Given the description of an element on the screen output the (x, y) to click on. 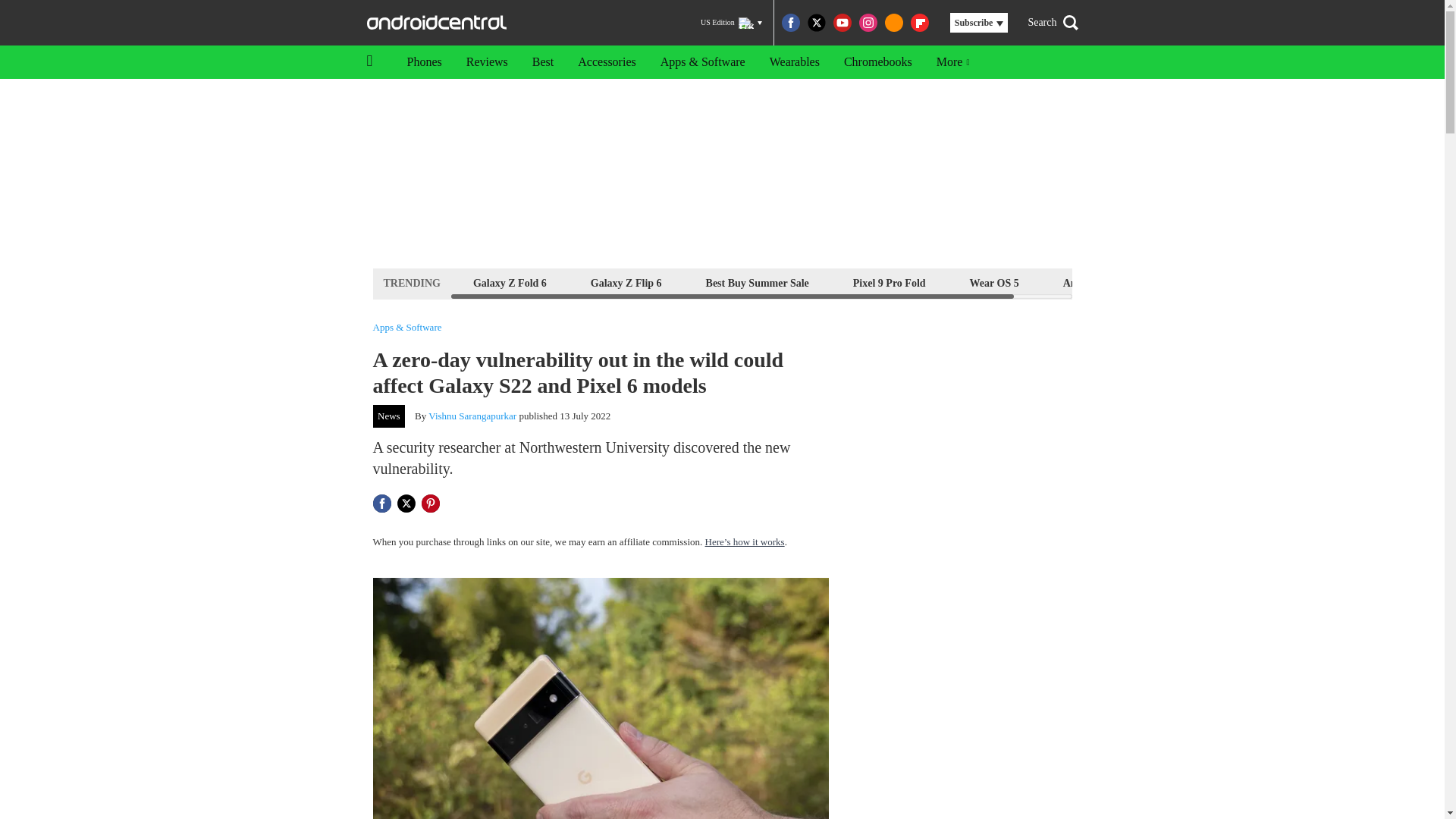
Best Buy Summer Sale (756, 282)
Galaxy Z Fold 6 (509, 282)
Chromebooks (877, 61)
Best (542, 61)
US Edition (731, 22)
Galaxy Z Flip 6 (625, 282)
Pixel 9 Pro Fold (889, 282)
Wear OS 5 (994, 282)
News (389, 415)
Accessories (606, 61)
Reviews (486, 61)
Wearables (794, 61)
Phones (423, 61)
Android 15 (1088, 282)
Vishnu Sarangapurkar (472, 415)
